Given the description of an element on the screen output the (x, y) to click on. 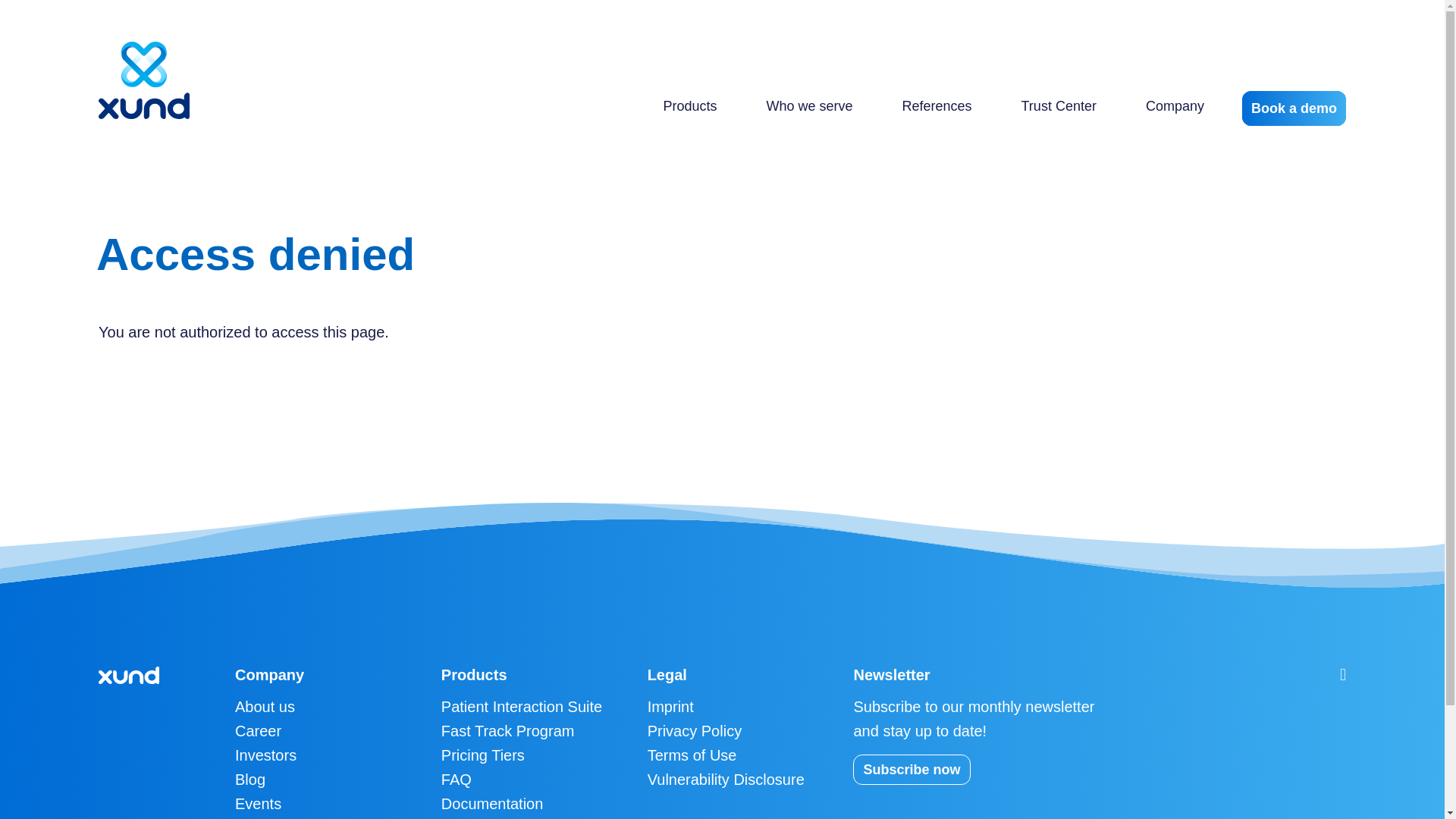
Imprint (670, 706)
Pricing Tiers (482, 754)
Company (1174, 105)
Investors (265, 754)
Patient Interaction Suite (521, 706)
Career (257, 730)
Subscribe now (911, 769)
XUND (144, 80)
Documentation (492, 803)
References (935, 105)
Blog (249, 779)
Terms of Use (691, 754)
Vulnerability Disclosure (726, 779)
Trust Center (1059, 105)
Privacy Policy (694, 730)
